Given the description of an element on the screen output the (x, y) to click on. 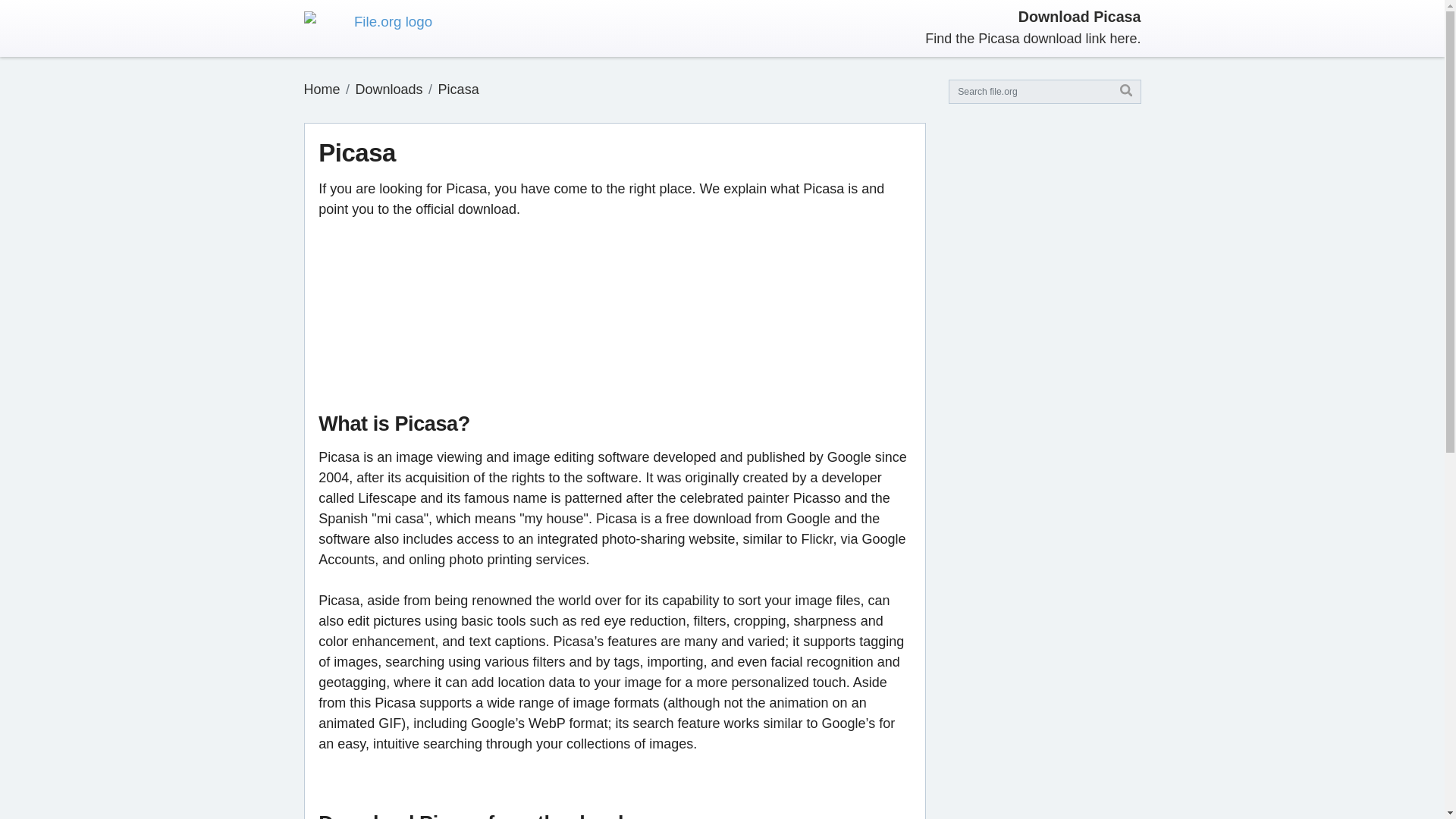
File.org (320, 89)
Downloads (389, 89)
Downloads (389, 89)
Picasa (458, 89)
Picasa (458, 89)
Home (320, 89)
